Given the description of an element on the screen output the (x, y) to click on. 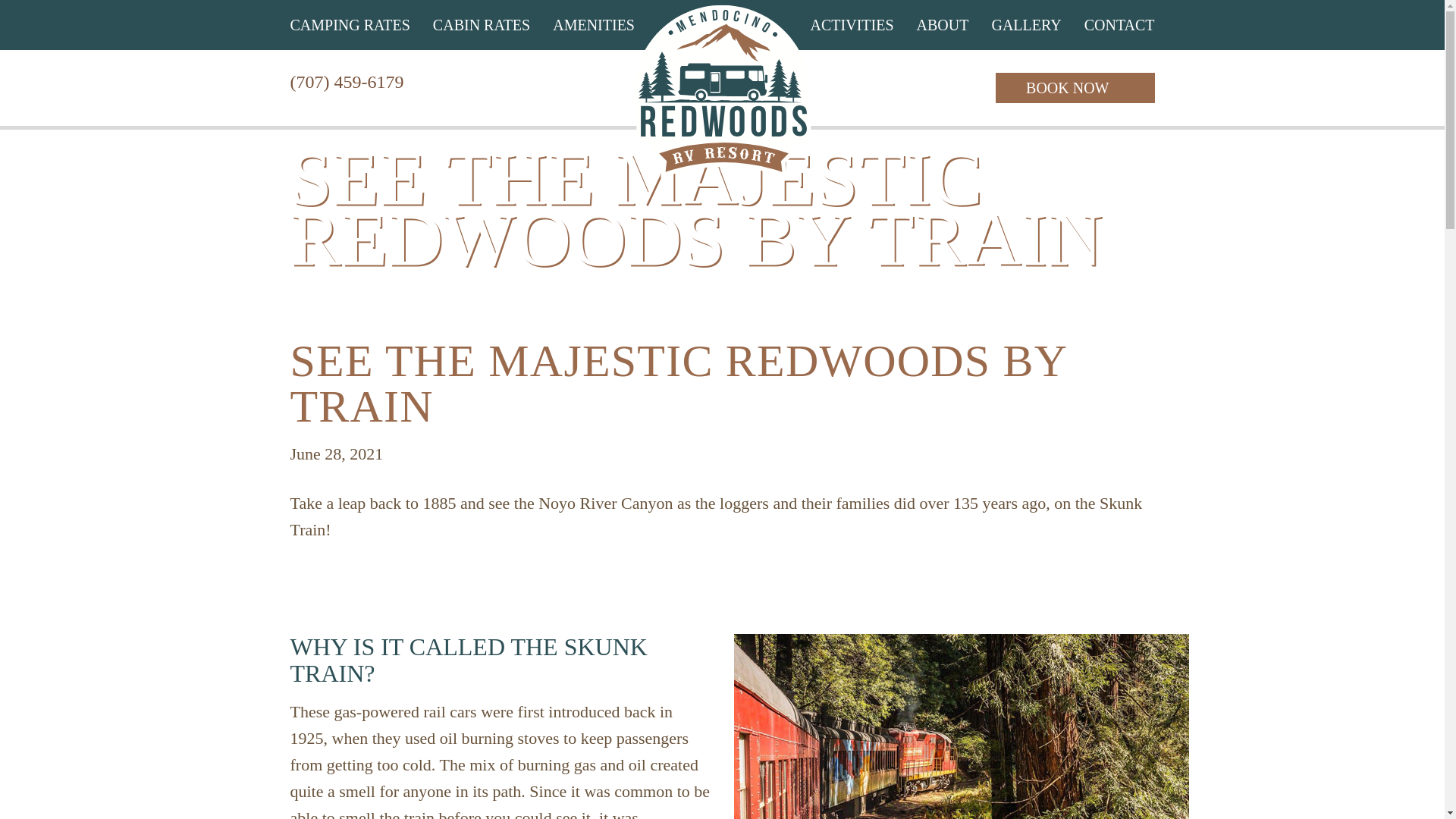
CAMPING RATES (349, 24)
GALLERY (1026, 24)
ABOUT (943, 24)
AMENITIES (593, 24)
ACTIVITIES (851, 24)
CONTACT (1119, 24)
BOOK NOW (1074, 87)
CABIN RATES (480, 24)
